Given the description of an element on the screen output the (x, y) to click on. 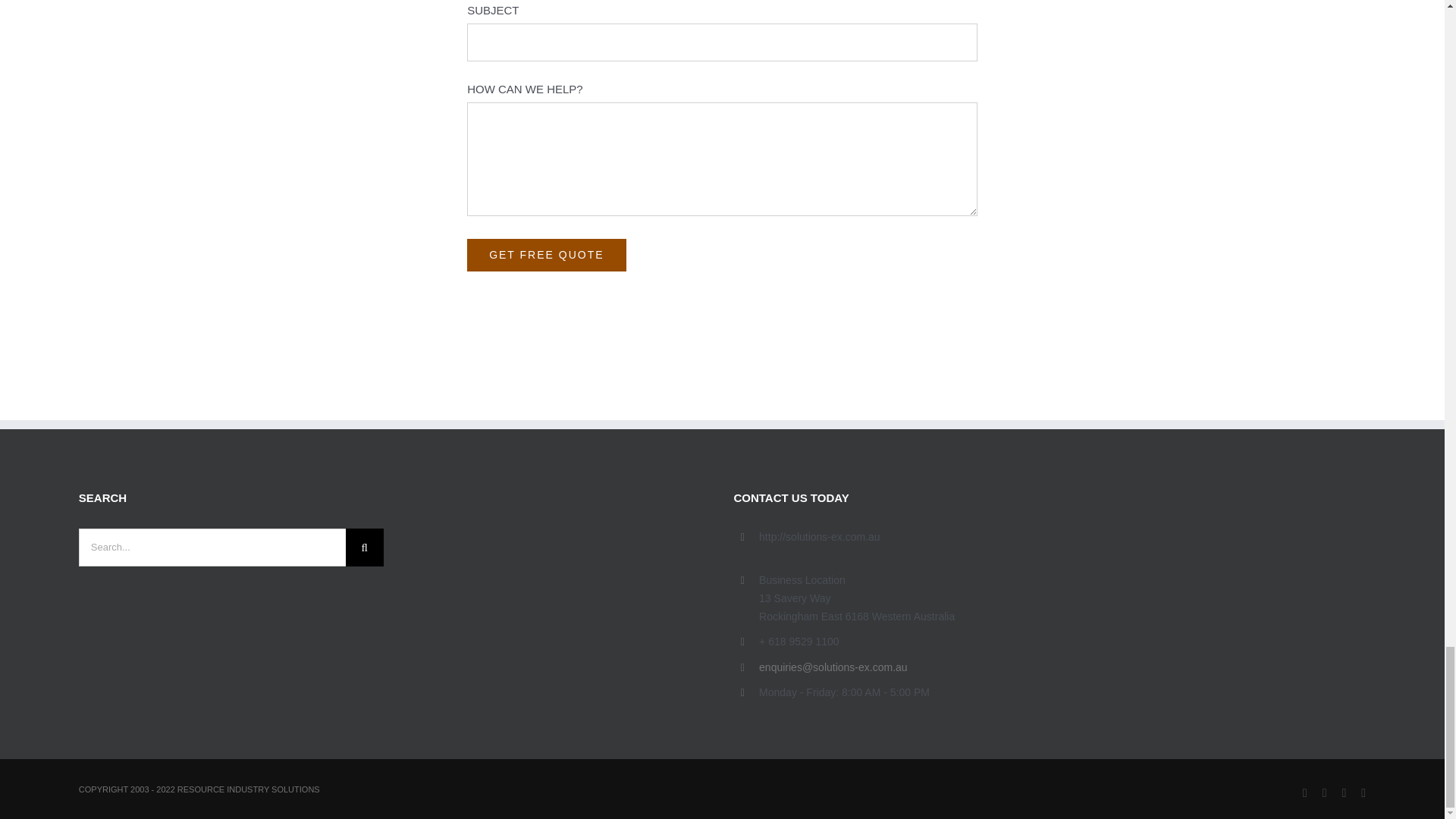
GET FREE QUOTE (546, 255)
GET FREE QUOTE (546, 255)
